Given the description of an element on the screen output the (x, y) to click on. 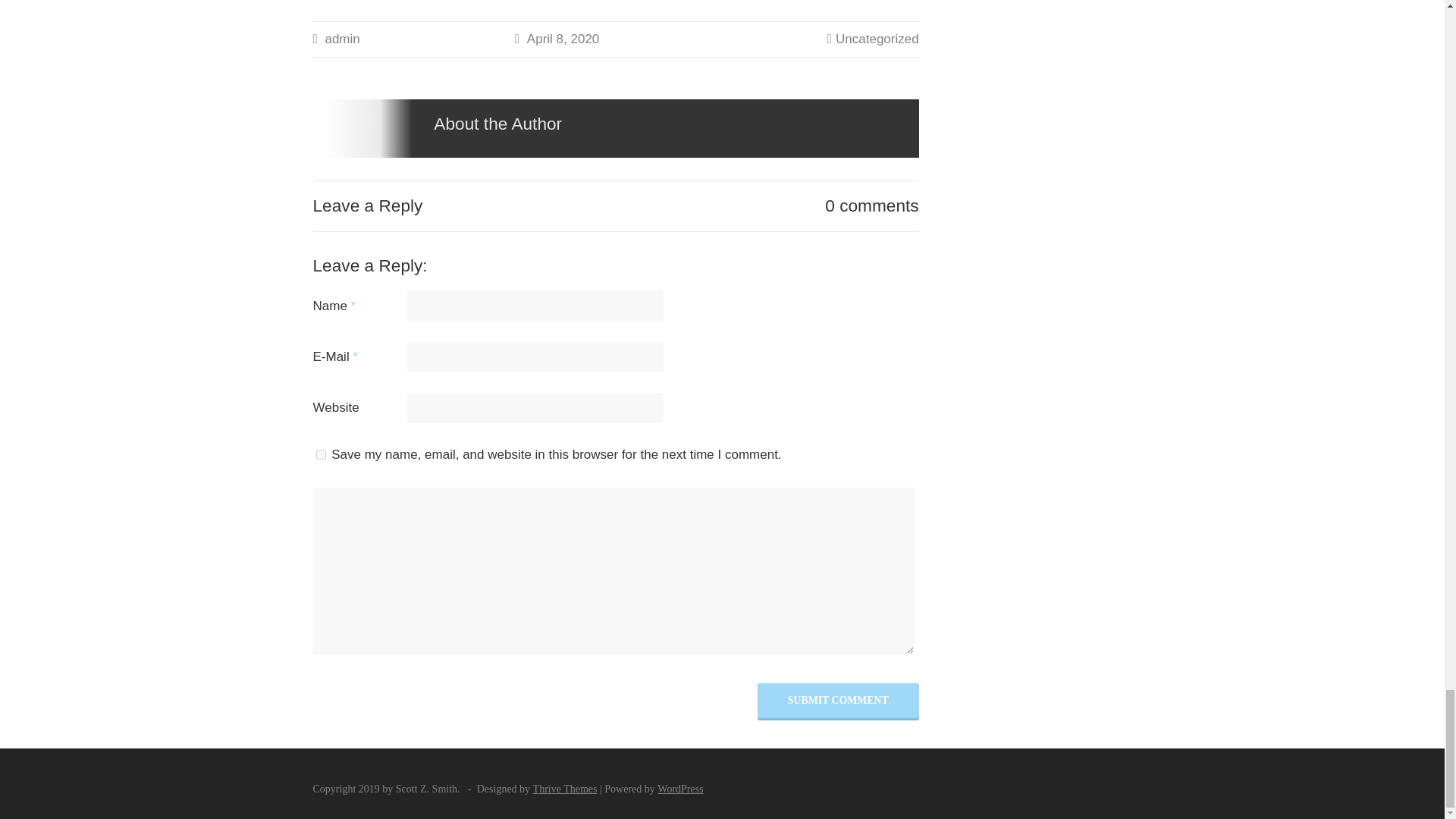
admin (341, 38)
yes (319, 454)
SUBMIT COMMENT (837, 700)
Uncategorized (876, 38)
SUBMIT COMMENT (837, 700)
